Given the description of an element on the screen output the (x, y) to click on. 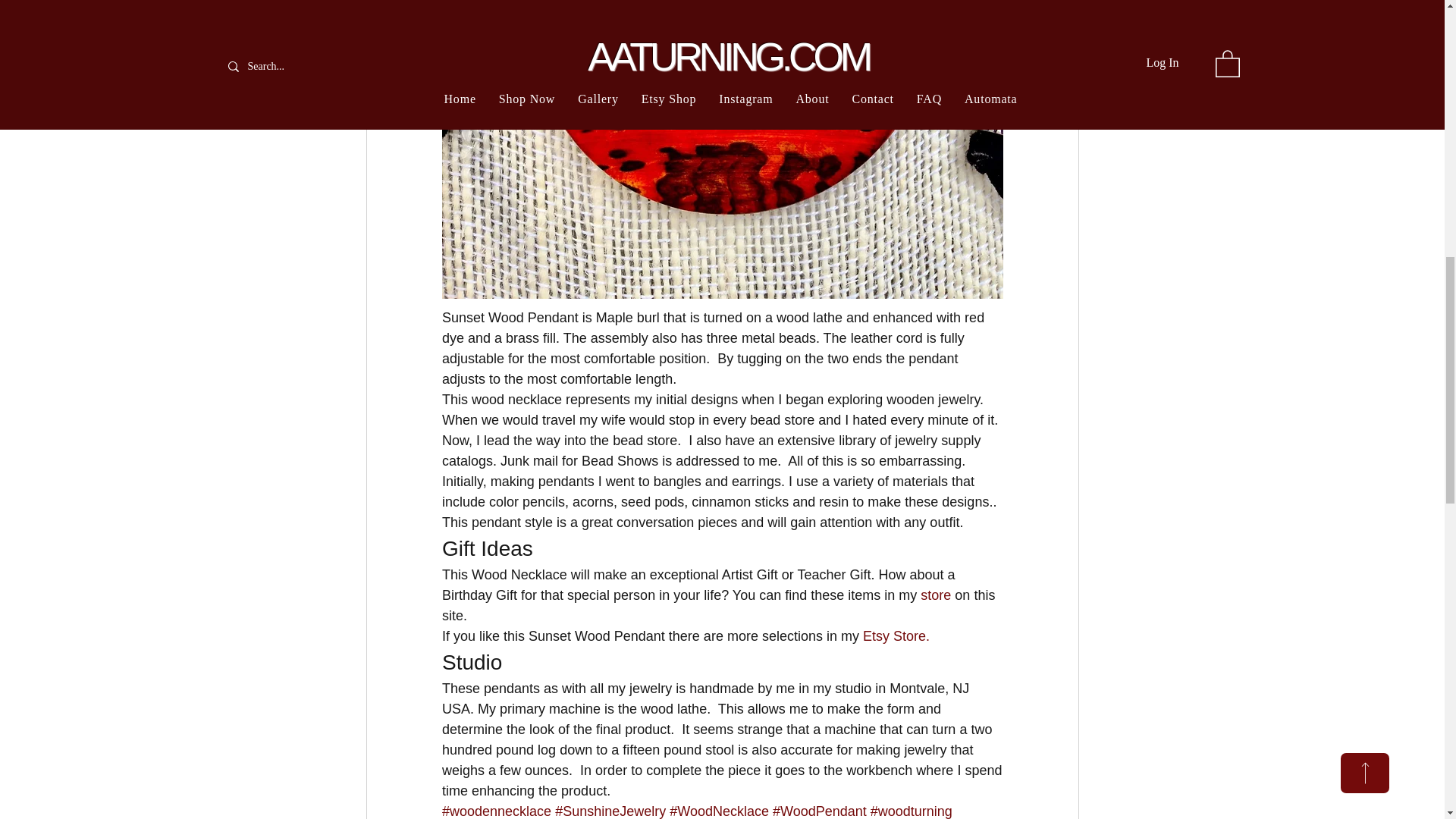
store (935, 595)
Etsy Store. (894, 635)
